Given the description of an element on the screen output the (x, y) to click on. 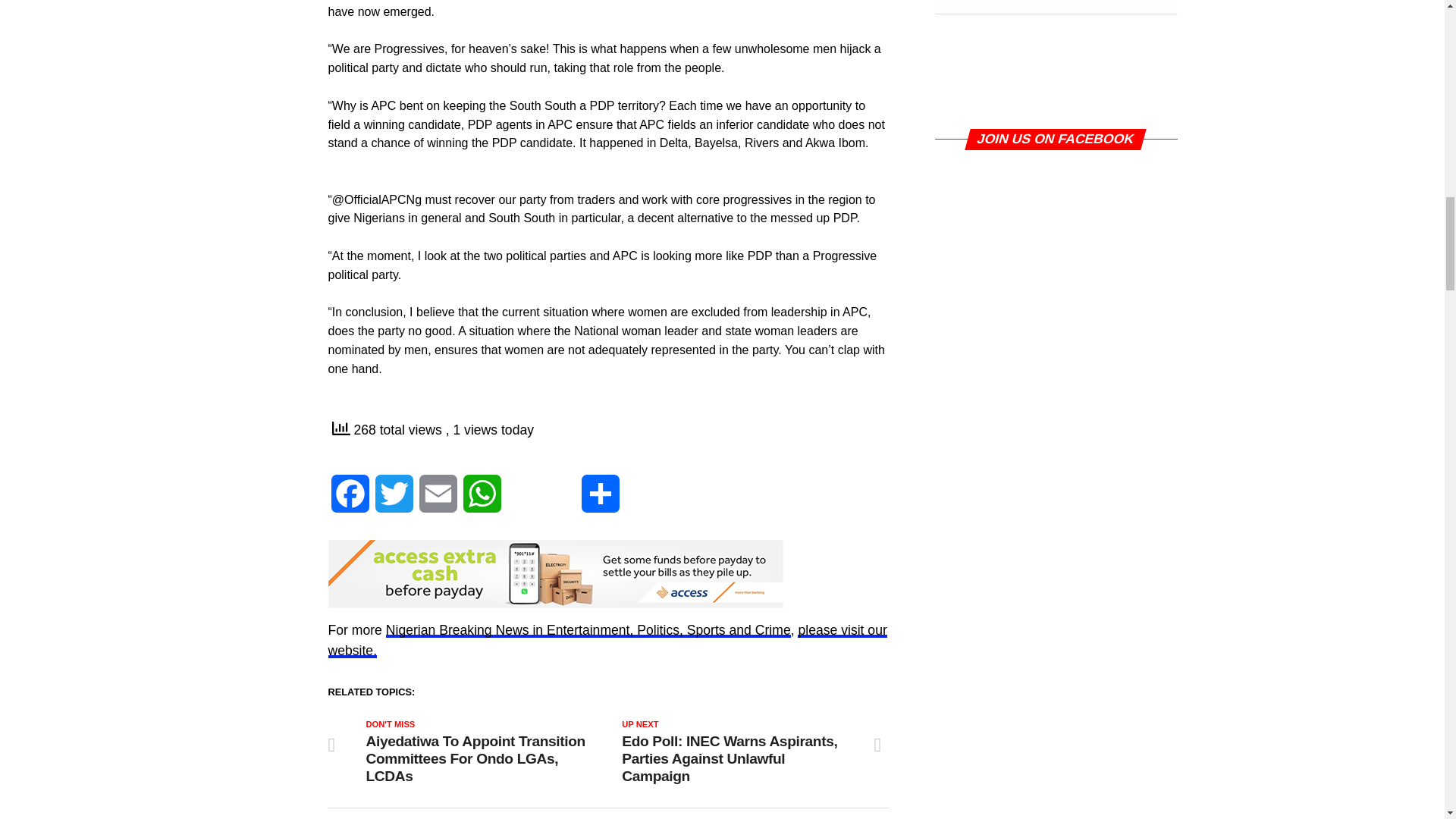
Email (437, 501)
WhatsApp (481, 501)
Facebook (349, 501)
Twitter (392, 501)
